Given the description of an element on the screen output the (x, y) to click on. 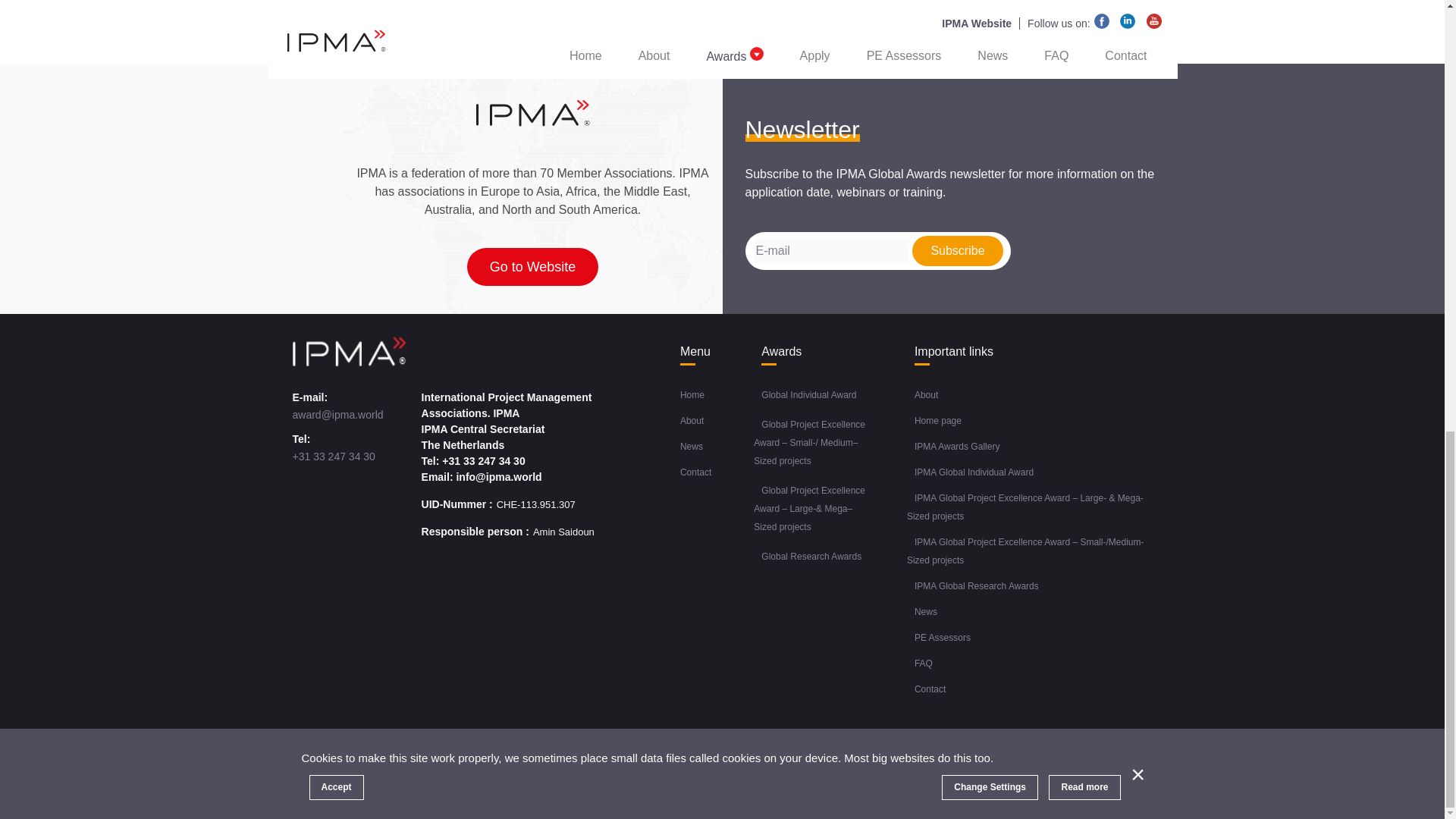
Subscribe (957, 250)
Application Form (468, 35)
Home (692, 394)
Go to Website (532, 266)
News (691, 446)
Contact (695, 472)
Global Individual Award (808, 394)
Subscribe (957, 250)
About (692, 420)
